Given the description of an element on the screen output the (x, y) to click on. 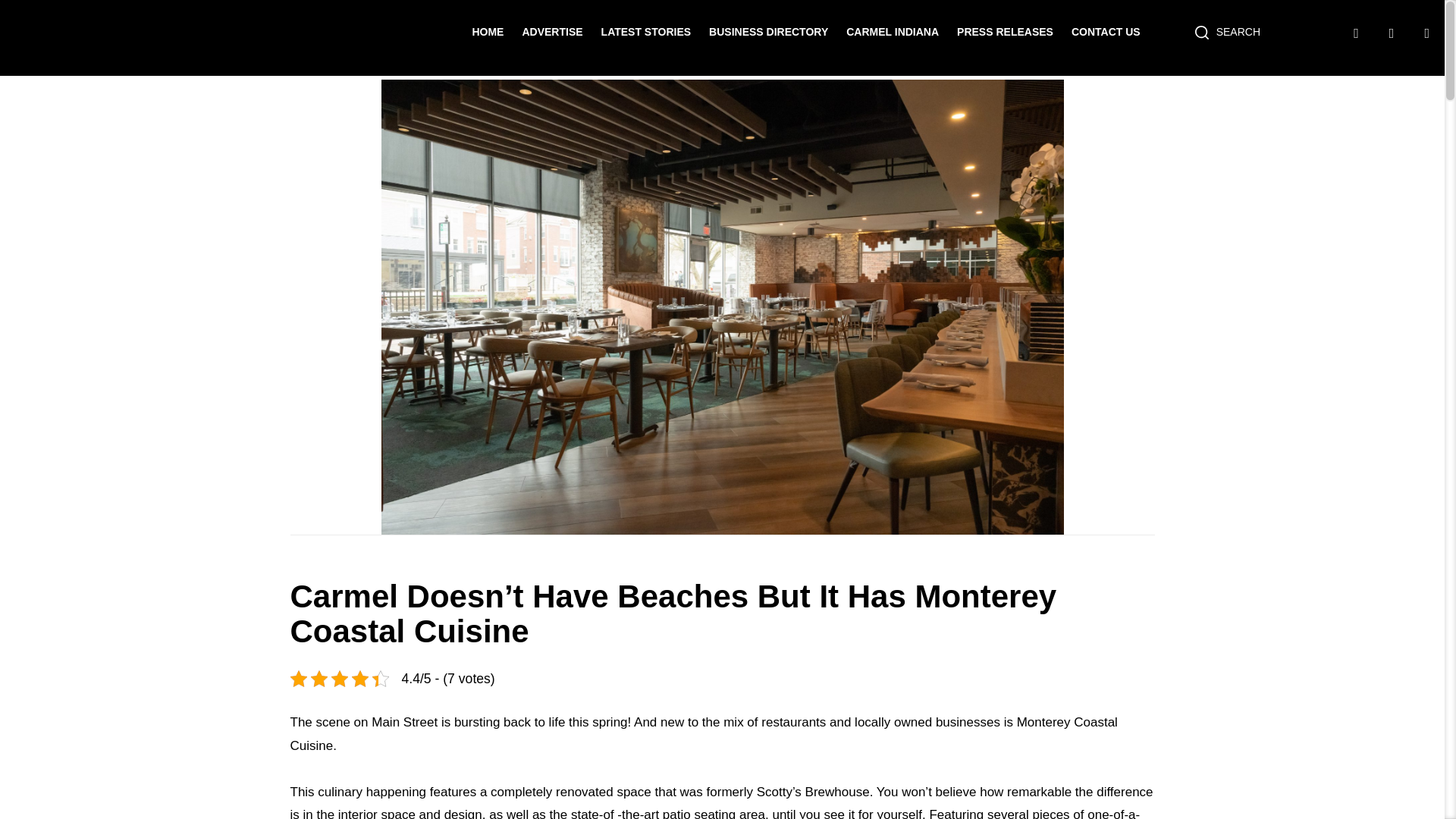
LATEST STORIES (646, 31)
HOME (487, 31)
BUSINESS DIRECTORY (768, 31)
PRESS RELEASES (1004, 31)
CARMEL INDIANA (892, 31)
CONTACT US (1105, 31)
ADVERTISE (551, 31)
SEARCH (1227, 31)
